Given the description of an element on the screen output the (x, y) to click on. 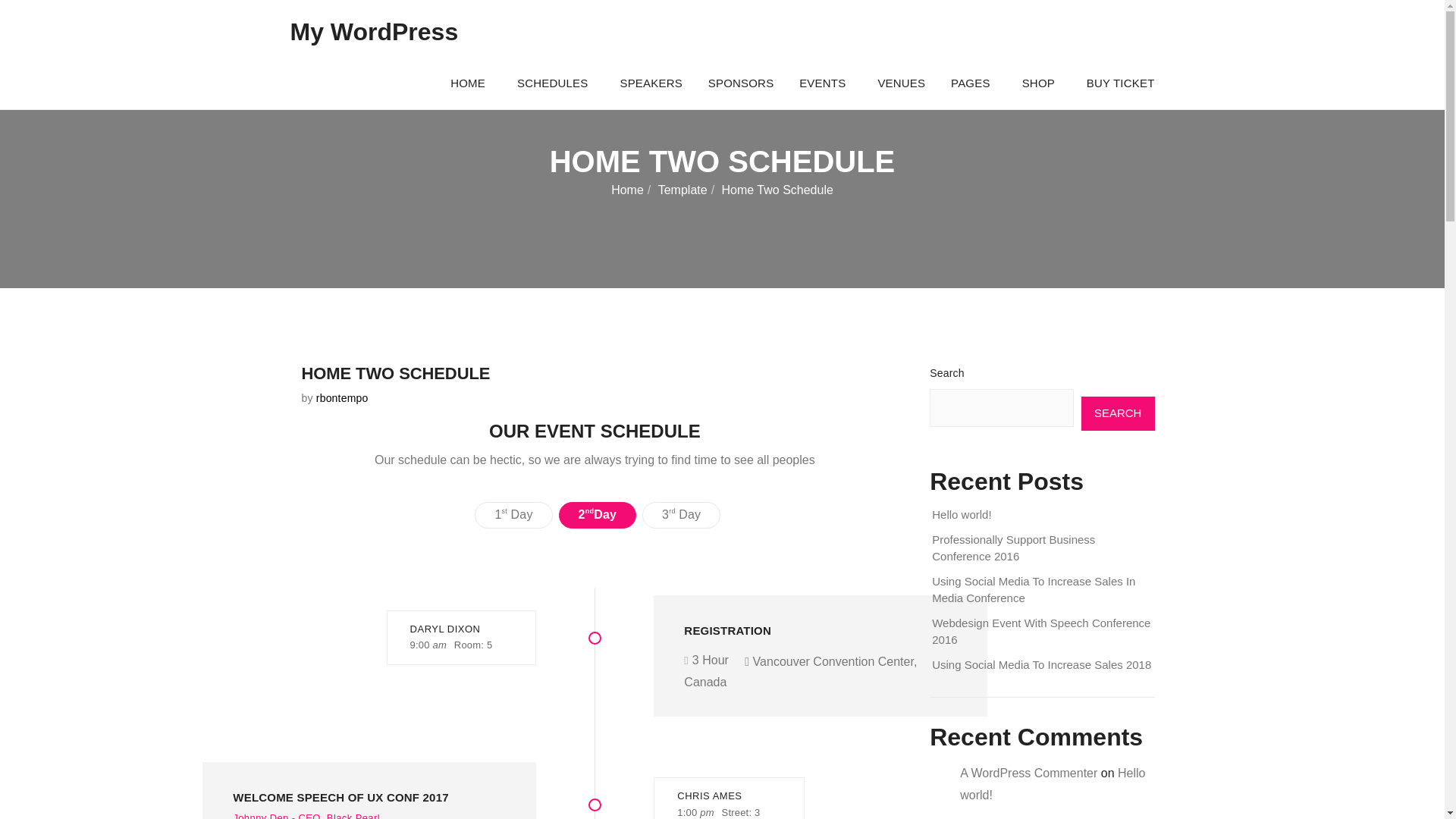
My WordPress (373, 32)
Professionally Support Business Conference 2016 (1012, 548)
Using Social Media To Increase Sales In Media Conference (1033, 589)
SPONSORS (740, 83)
Template (682, 189)
3rd Day (681, 515)
BUY TICKET (1120, 83)
rbontempo (341, 398)
SEARCH (1117, 413)
Hello world! (961, 513)
EVENTS (825, 83)
1st Day (512, 515)
SCHEDULES (555, 83)
2ndDay (597, 515)
VENUES (900, 83)
